Given the description of an element on the screen output the (x, y) to click on. 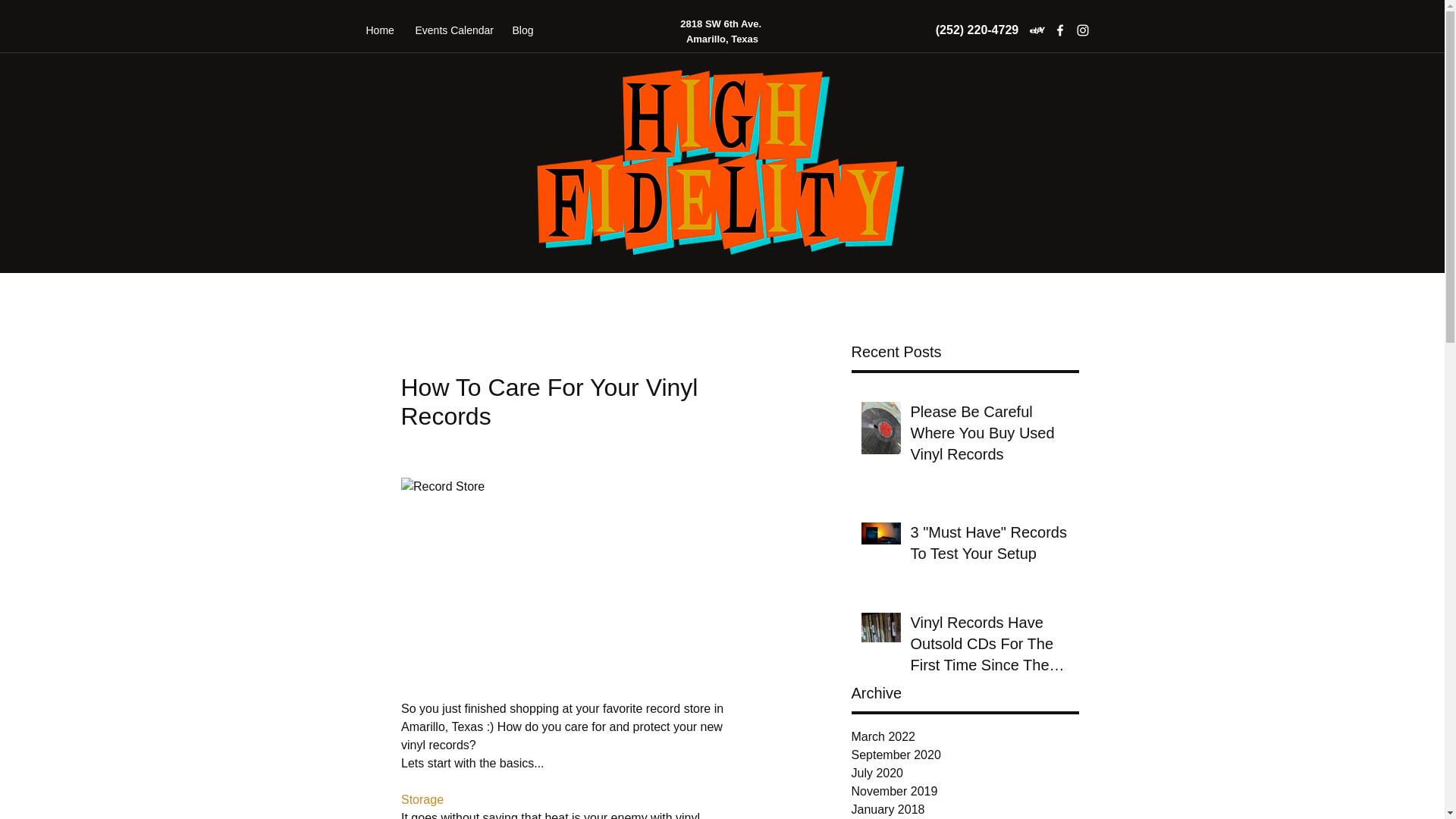
Blog (521, 29)
Please Be Careful Where You Buy Used Vinyl Records (989, 435)
March 2022 (964, 737)
November 2019 (964, 791)
3 "Must Have" Records To Test Your Setup (989, 545)
Events Calendar (451, 29)
July 2020 (964, 773)
Home (379, 29)
January 2018 (964, 809)
September 2020 (964, 755)
